Given the description of an element on the screen output the (x, y) to click on. 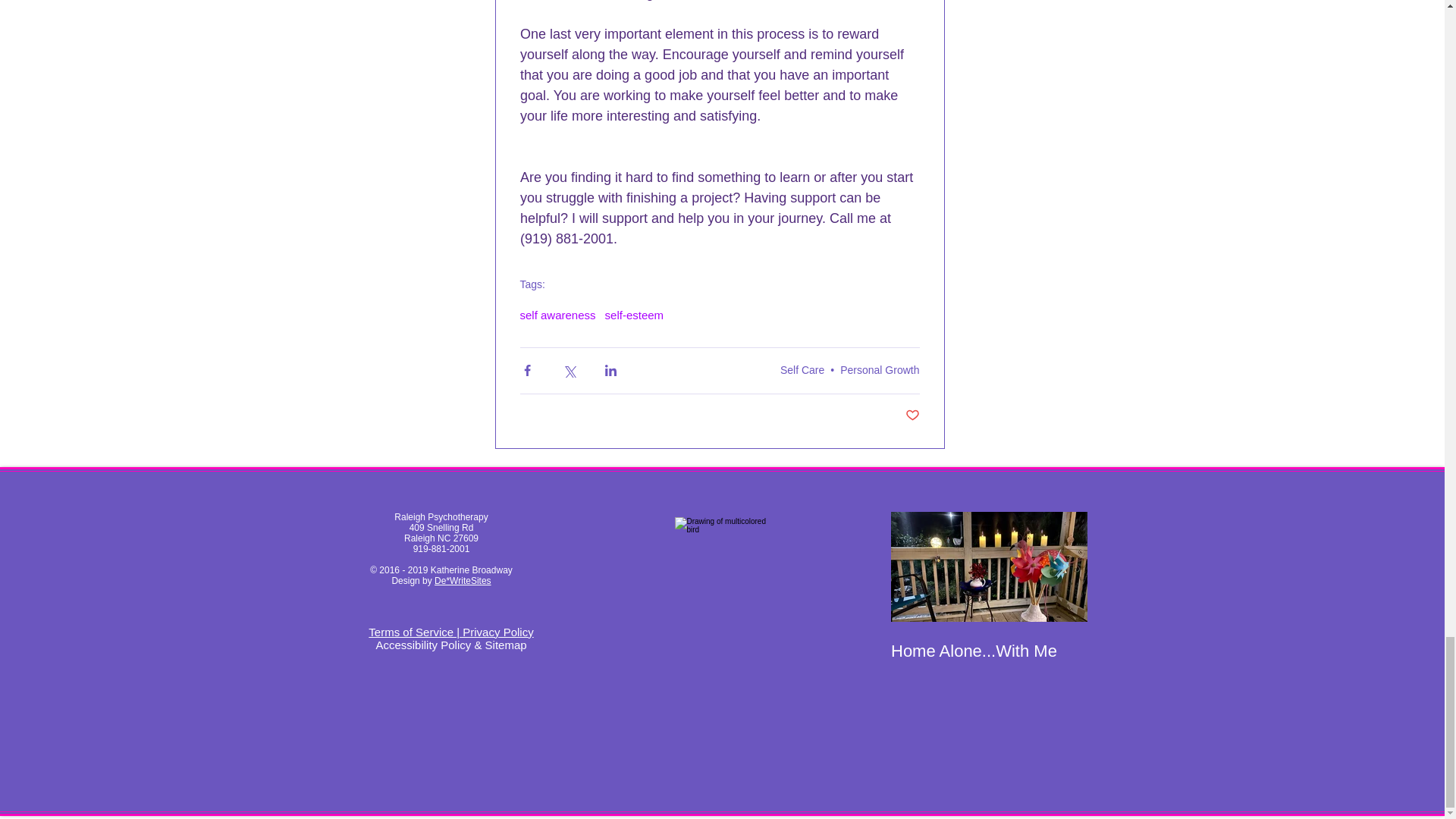
Home Alone...With Me (987, 650)
self awareness (557, 314)
Personal Growth (879, 369)
Post not marked as liked (912, 415)
Self Care (802, 369)
self-esteem (634, 314)
Doubt, Restlessness and Boredom (1185, 660)
